Given the description of an element on the screen output the (x, y) to click on. 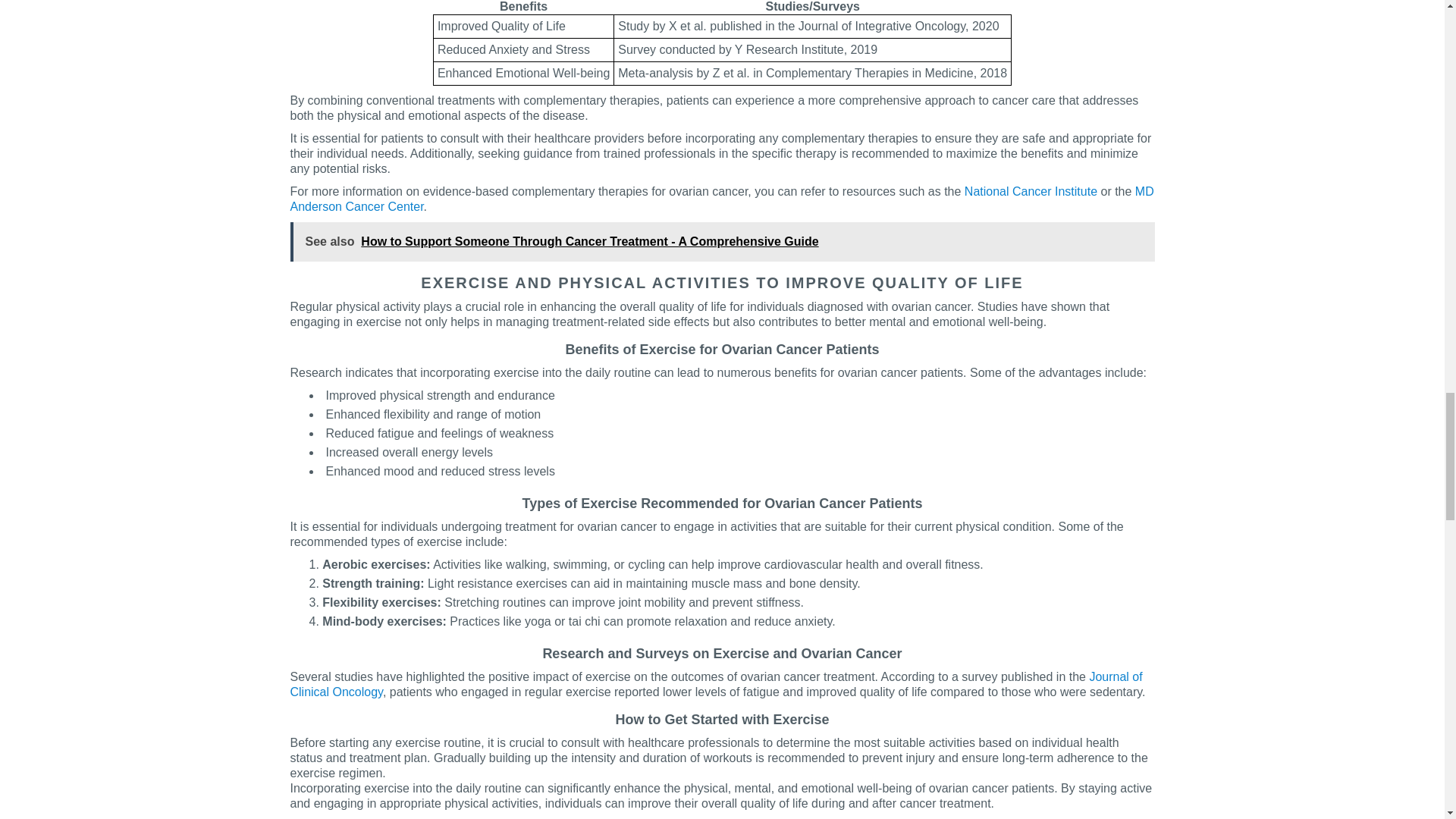
Journal of Clinical Oncology (715, 684)
MD Anderson Cancer Center (721, 198)
National Cancer Institute (1030, 191)
